Given the description of an element on the screen output the (x, y) to click on. 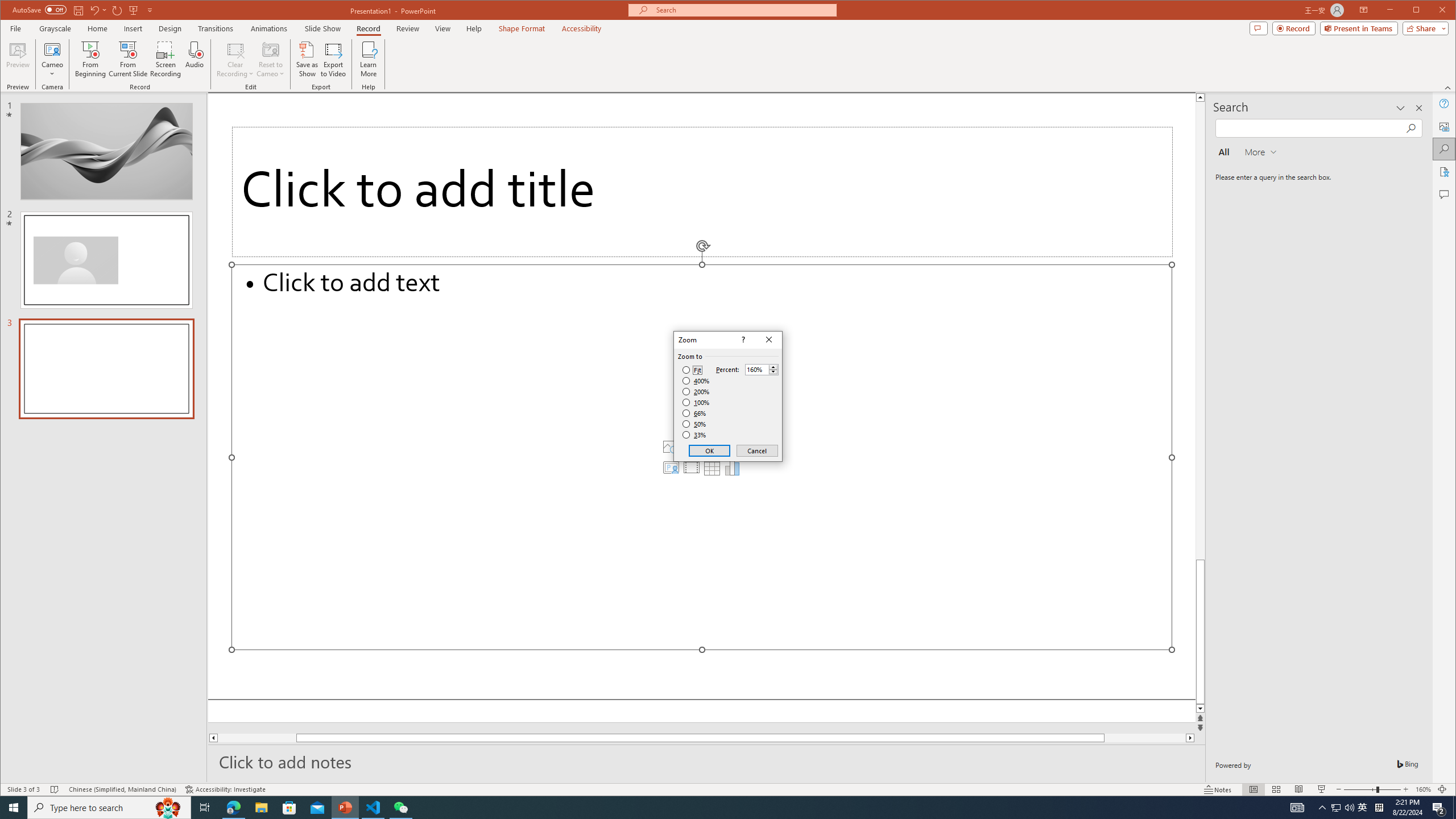
Percent (761, 369)
100% (696, 402)
Context help (742, 339)
From Current Slide... (127, 59)
